Given the description of an element on the screen output the (x, y) to click on. 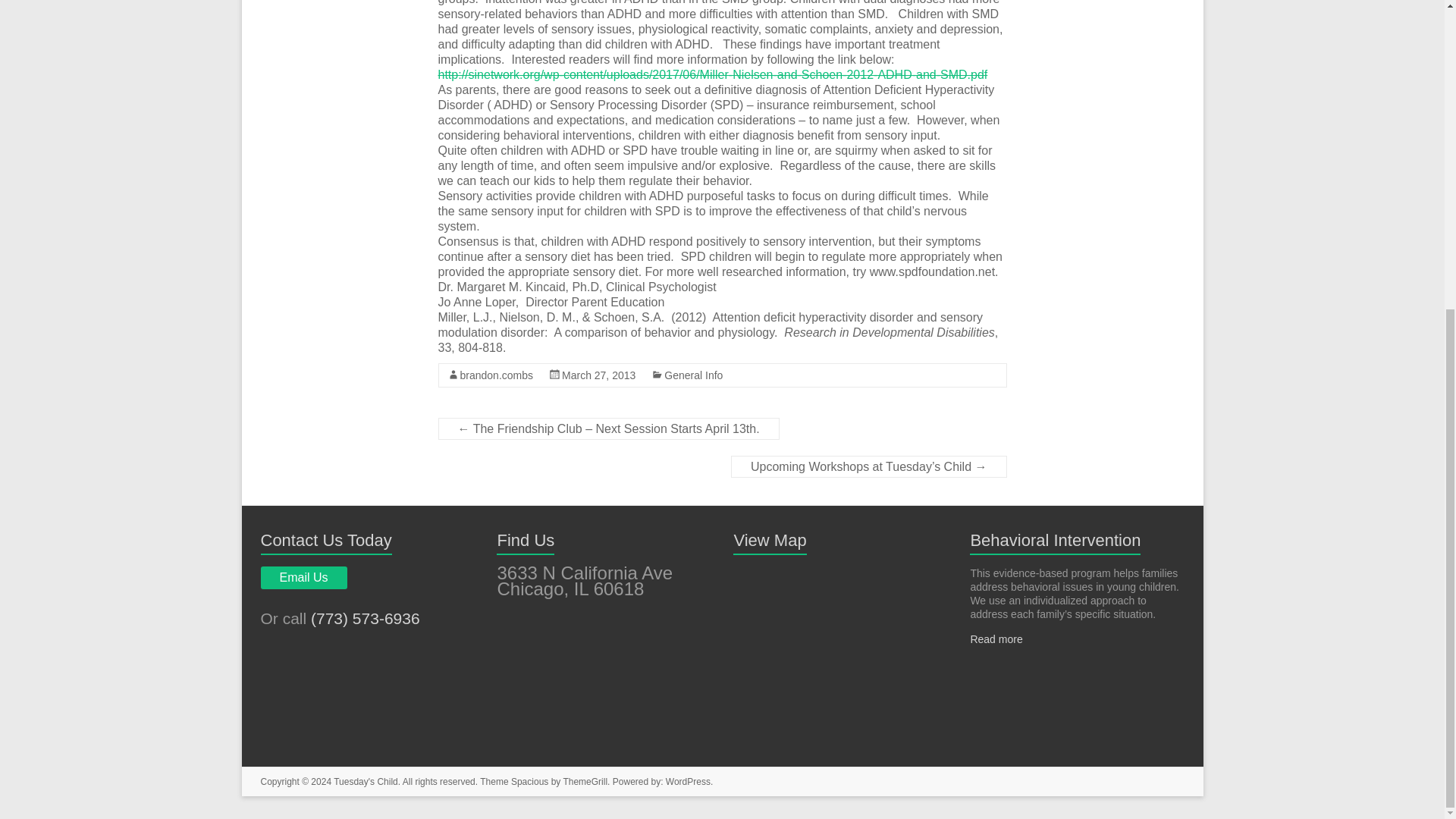
9:20 pm (598, 375)
WordPress (687, 781)
March 27, 2013 (598, 375)
Tuesday's Child (365, 781)
Behavioral Intervention (1054, 539)
brandon.combs (496, 375)
Spacious (529, 781)
General Info (692, 375)
